Given the description of an element on the screen output the (x, y) to click on. 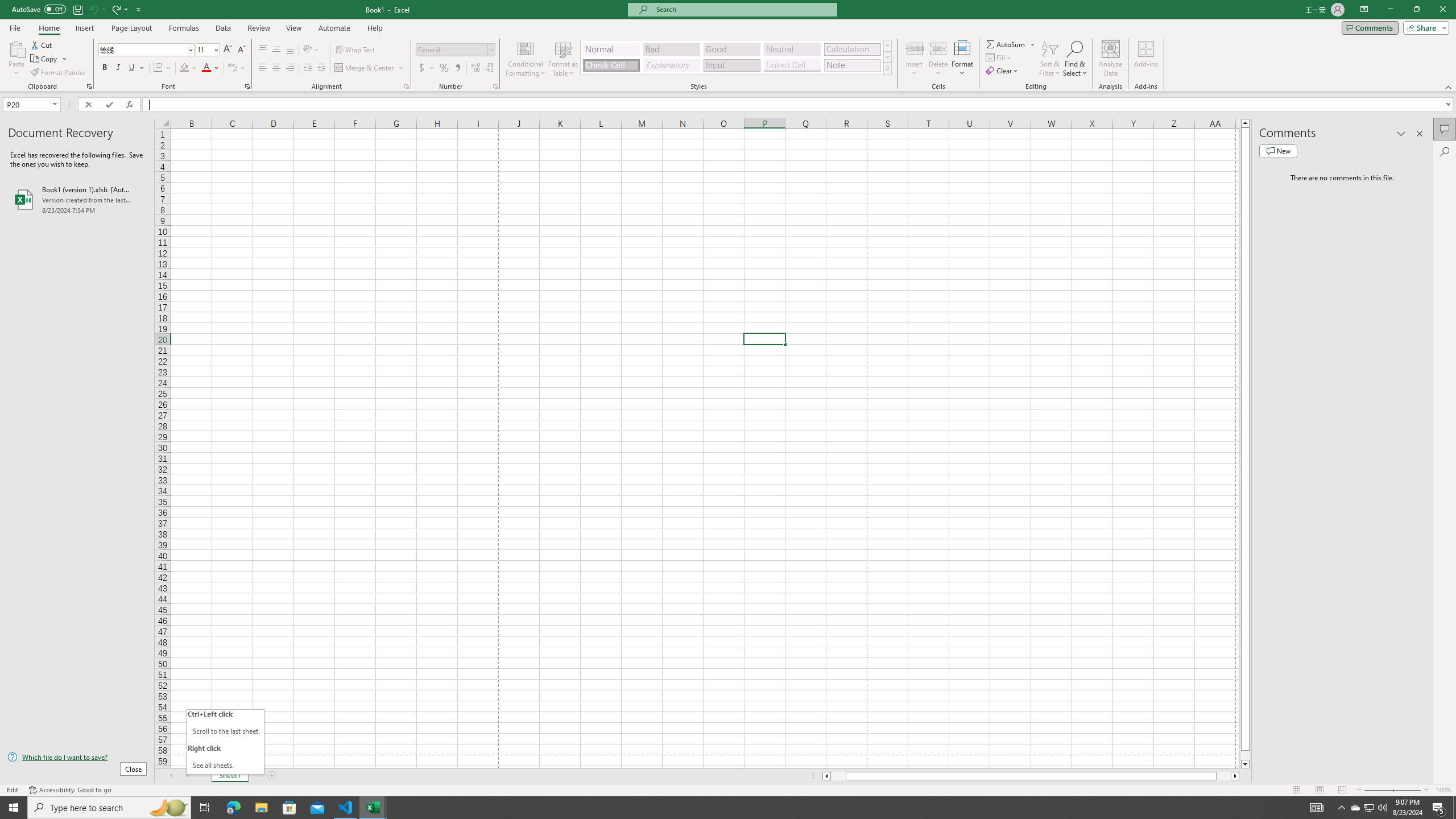
Delete Cells... (938, 48)
Middle Align (276, 49)
Find & Select (1075, 58)
Good (731, 49)
Check Cell (611, 65)
Merge & Center (369, 67)
Font Color (210, 67)
Bottom Align (290, 49)
Font Color RGB(255, 0, 0) (206, 67)
Copy (45, 58)
